Given the description of an element on the screen output the (x, y) to click on. 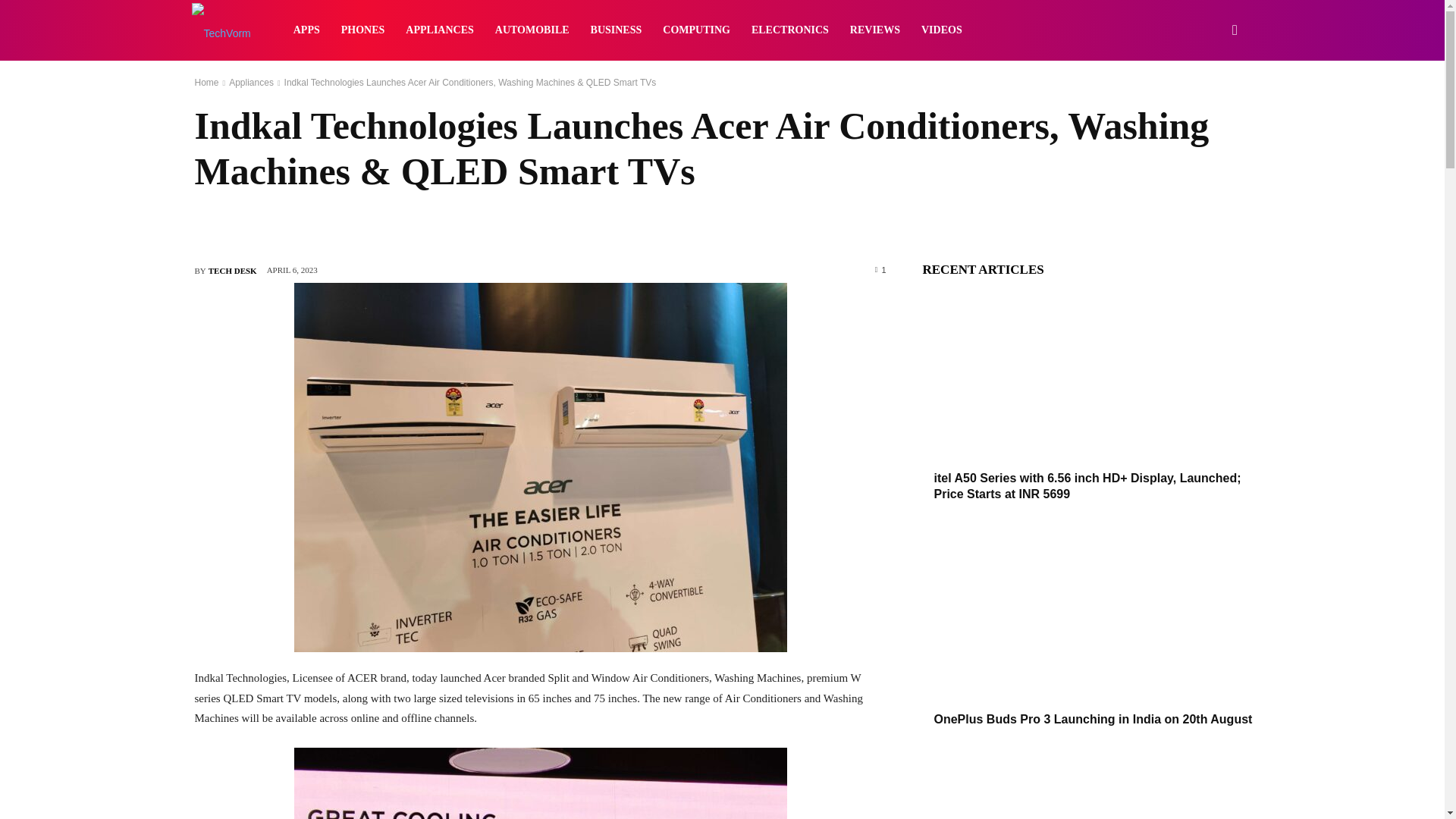
REVIEWS (875, 30)
Appliances (250, 81)
APPLIANCES (438, 30)
TechVorm (220, 30)
PHONES (363, 30)
ELECTRONICS (790, 30)
Search (1210, 102)
AUTOMOBILE (531, 30)
Technology news, as it happens! (220, 30)
Home (205, 81)
